Given the description of an element on the screen output the (x, y) to click on. 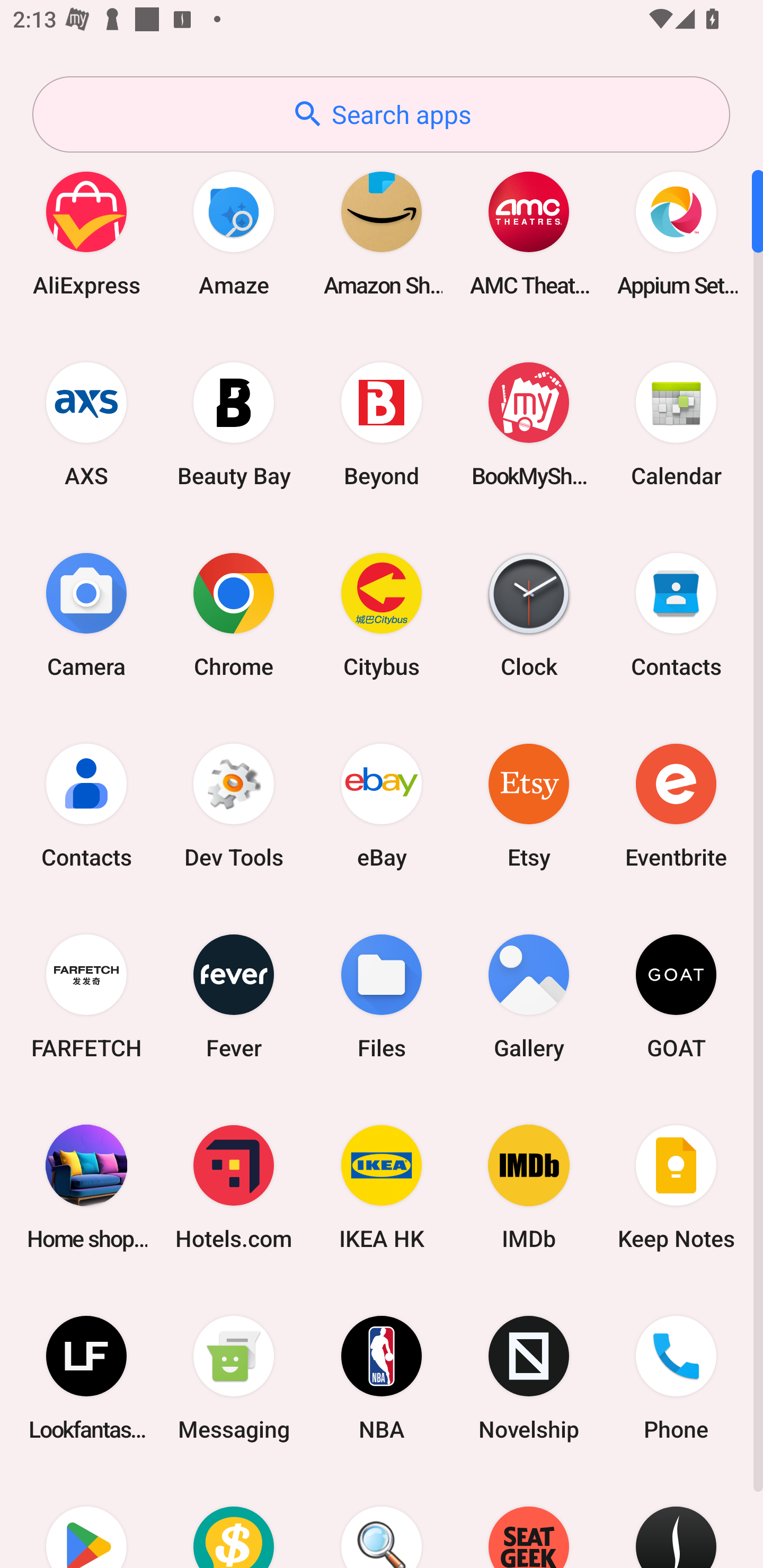
  Search apps (381, 114)
AliExpress (86, 233)
Amaze (233, 233)
Amazon Shopping (381, 233)
AMC Theatres (528, 233)
Appium Settings (676, 233)
AXS (86, 424)
Beauty Bay (233, 424)
Beyond (381, 424)
BookMyShow (528, 424)
Calendar (676, 424)
Camera (86, 614)
Chrome (233, 614)
Citybus (381, 614)
Clock (528, 614)
Contacts (676, 614)
Contacts (86, 805)
Dev Tools (233, 805)
eBay (381, 805)
Etsy (528, 805)
Eventbrite (676, 805)
FARFETCH (86, 996)
Fever (233, 996)
Files (381, 996)
Gallery (528, 996)
GOAT (676, 996)
Home shopping (86, 1186)
Hotels.com (233, 1186)
IKEA HK (381, 1186)
IMDb (528, 1186)
Keep Notes (676, 1186)
Lookfantastic (86, 1377)
Messaging (233, 1377)
NBA (381, 1377)
Novelship (528, 1377)
Phone (676, 1377)
